Given the description of an element on the screen output the (x, y) to click on. 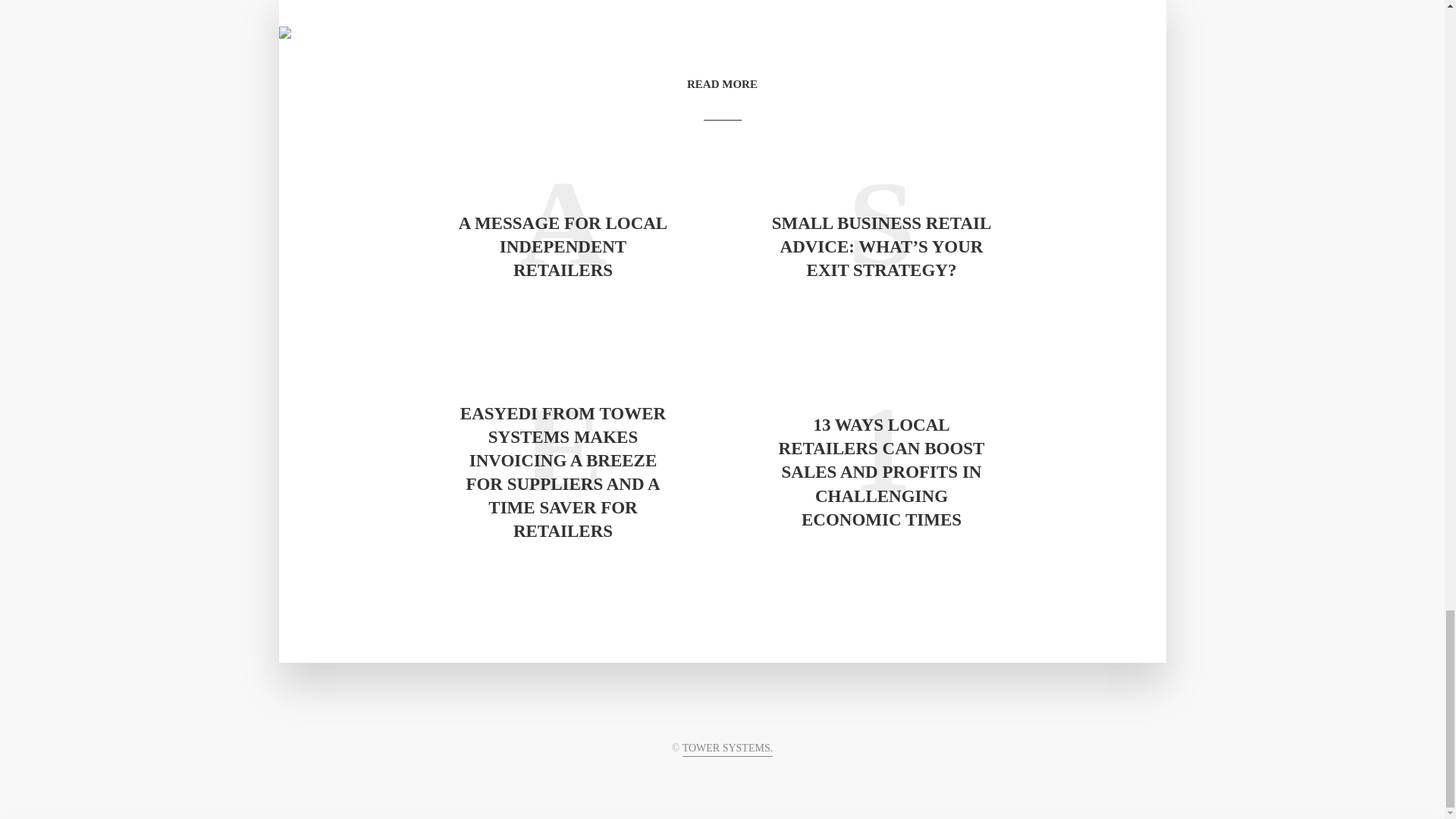
TOWER SYSTEMS. (727, 749)
A MESSAGE FOR LOCAL INDEPENDENT RETAILERS (562, 246)
A message for local independent retailers (562, 246)
TOWER SYSTEMS. (727, 749)
